Given the description of an element on the screen output the (x, y) to click on. 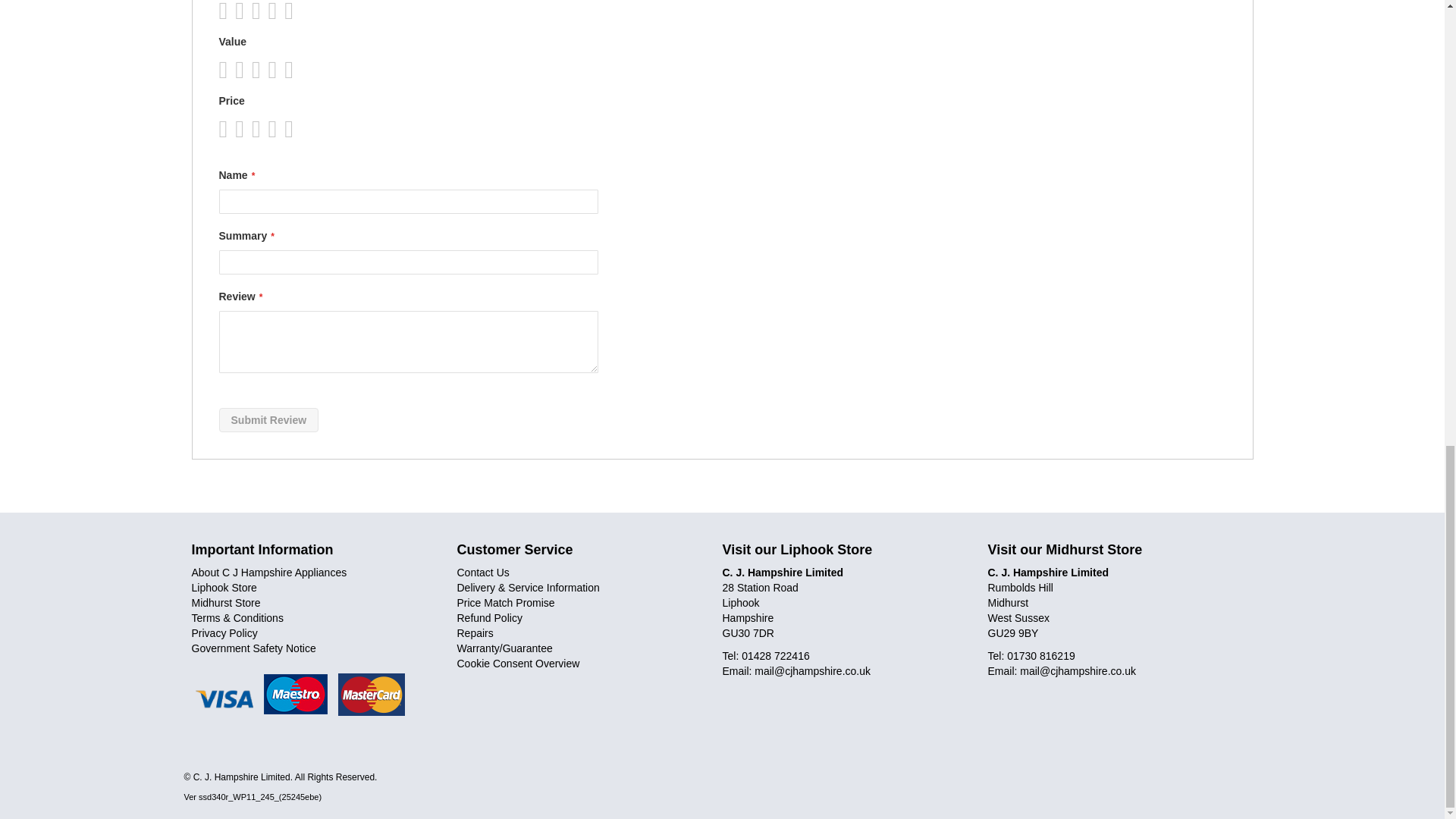
4 stars (250, 11)
4 stars (250, 69)
5 stars (258, 69)
